Given the description of an element on the screen output the (x, y) to click on. 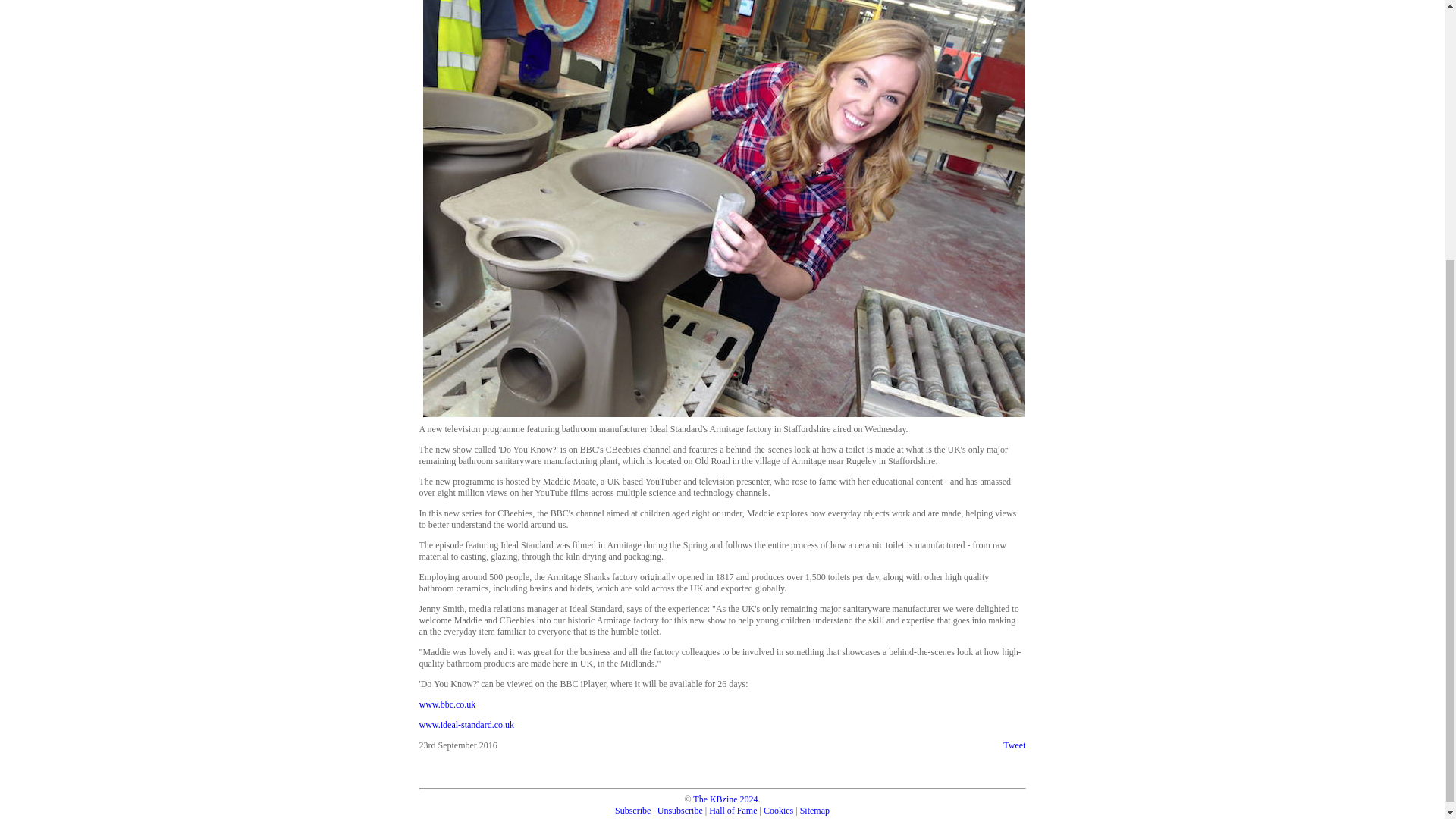
The KBzine (714, 798)
Tweet (1014, 745)
Cookies (777, 810)
2024 (748, 798)
www.bbc.co.uk (447, 704)
Subscribe (632, 810)
Hall of Fame (733, 810)
Unsubscribe (680, 810)
Sitemap (814, 810)
www.ideal-standard.co.uk (466, 724)
